Given the description of an element on the screen output the (x, y) to click on. 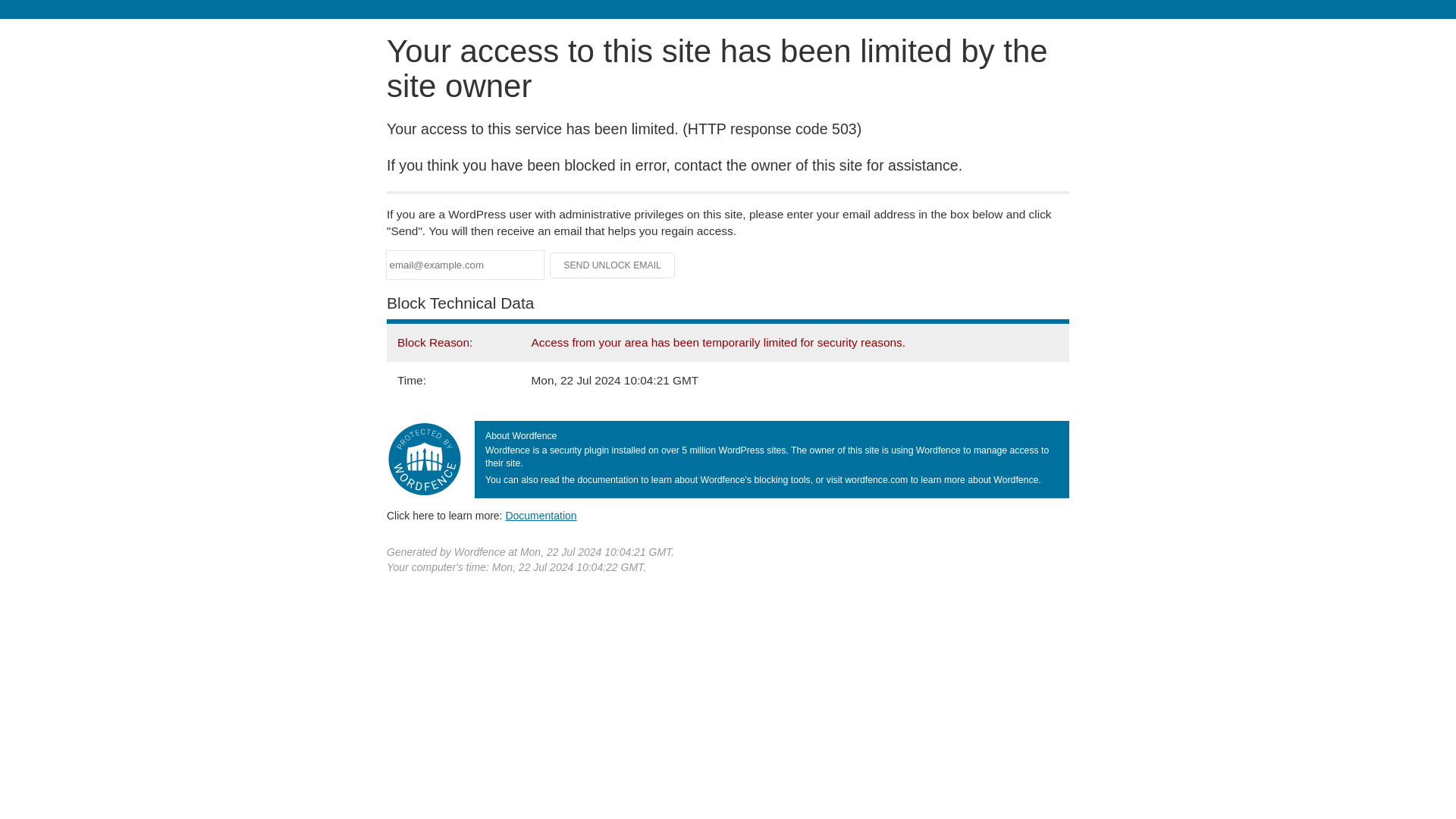
Documentation (540, 515)
Send Unlock Email (612, 265)
Send Unlock Email (612, 265)
